Given the description of an element on the screen output the (x, y) to click on. 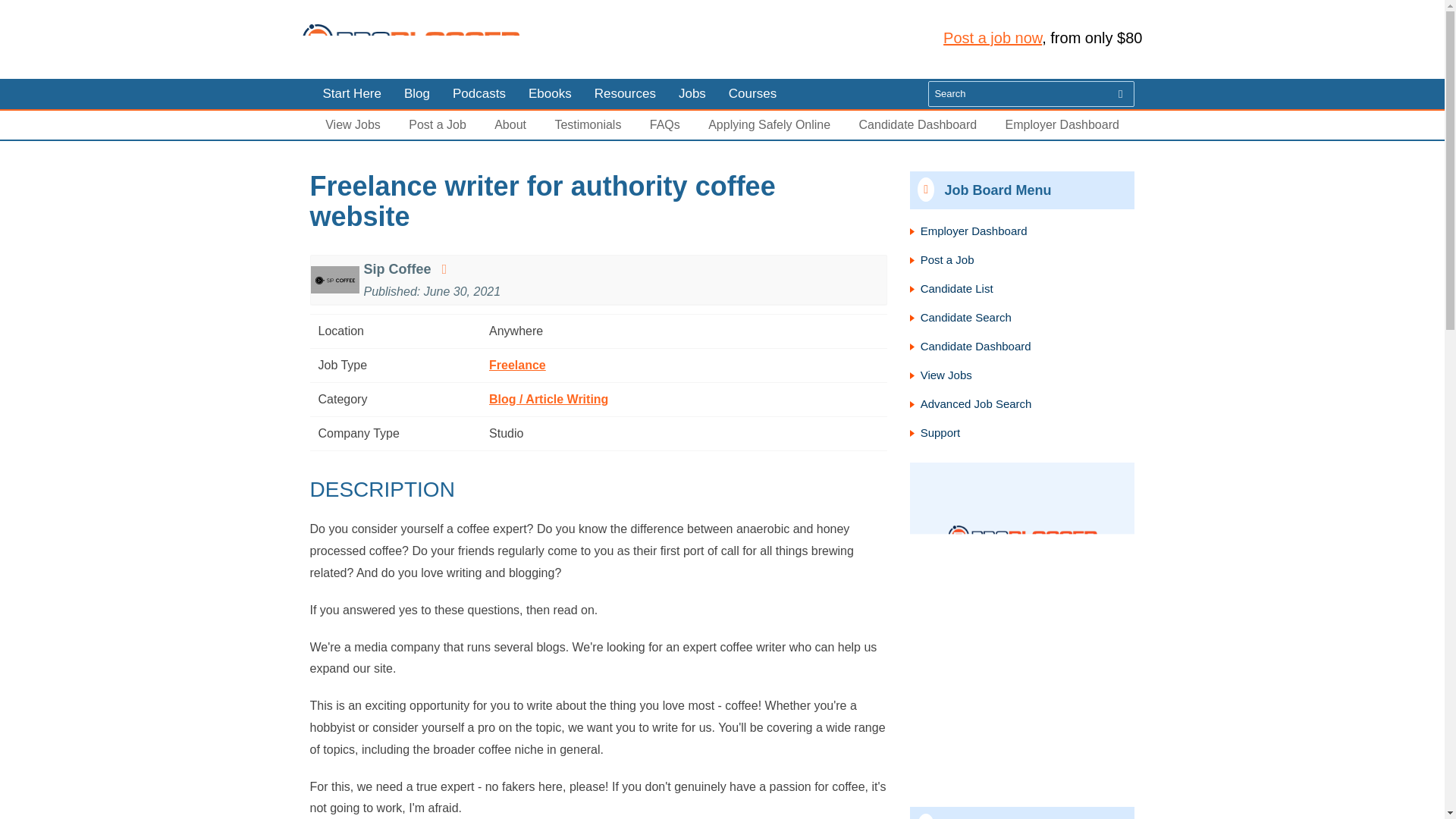
ProBlogger Jobs (409, 38)
visit company profile (444, 268)
Candidate Dashboard (917, 124)
Start Here (350, 93)
Podcasts (478, 93)
Post a job now (992, 37)
Applying Safely Online (769, 124)
Courses (752, 93)
Resources (624, 93)
Jobs (692, 93)
View Jobs (352, 124)
Blog (416, 93)
Testimonials (587, 124)
Freelance (517, 364)
About (510, 124)
